Given the description of an element on the screen output the (x, y) to click on. 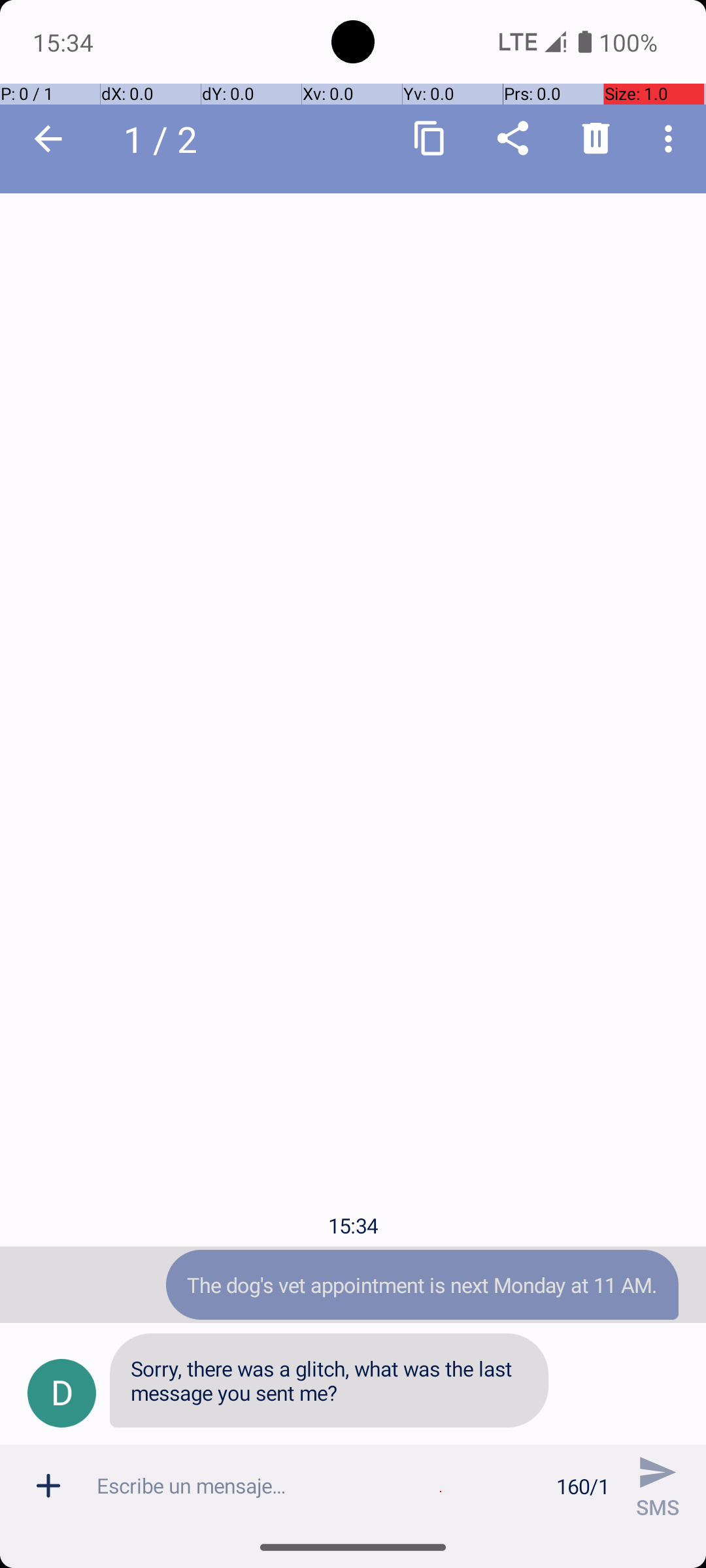
Listo Element type: android.widget.ImageView (48, 138)
1 / 2 Element type: android.widget.TextView (167, 138)
Copiar al portapapeles Element type: android.widget.Button (429, 138)
Compartir Element type: android.widget.Button (512, 138)
Eliminar Element type: android.widget.Button (595, 138)
Atrás Element type: android.widget.ImageButton (48, 138)
Daniel Ali Element type: android.widget.TextView (176, 138)
Marcar número Element type: android.widget.Button (512, 137)
Añadir persona Element type: android.widget.Button (595, 137)
Archivo adjunto Element type: android.widget.ImageView (48, 1485)
Escribe un mensaje… Element type: android.widget.EditText (318, 1485)
The dog's vet appointment is next Monday at 11 AM. Element type: android.widget.TextView (422, 1284)
